Given the description of an element on the screen output the (x, y) to click on. 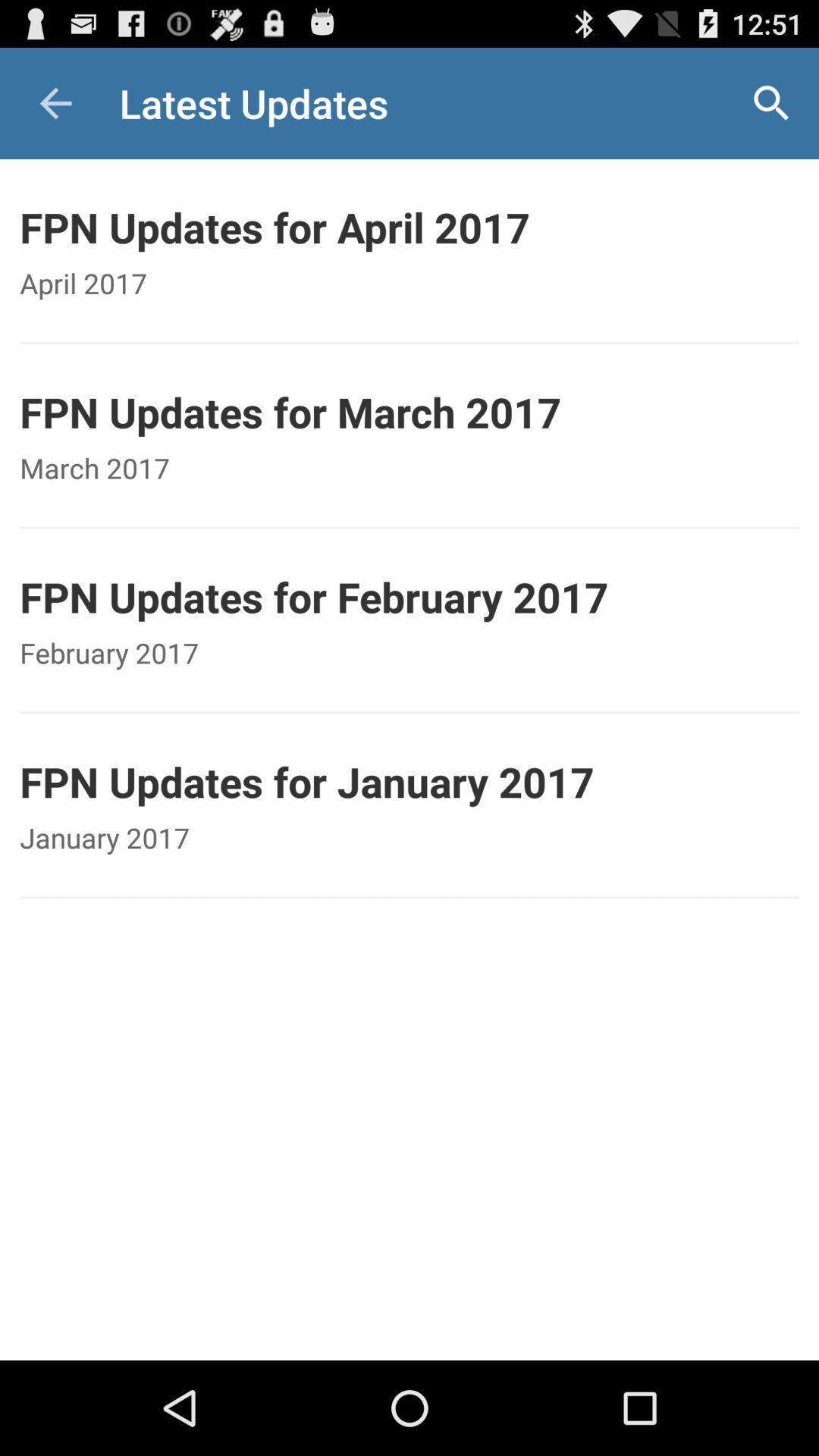
open the icon above fpn updates for icon (771, 103)
